Given the description of an element on the screen output the (x, y) to click on. 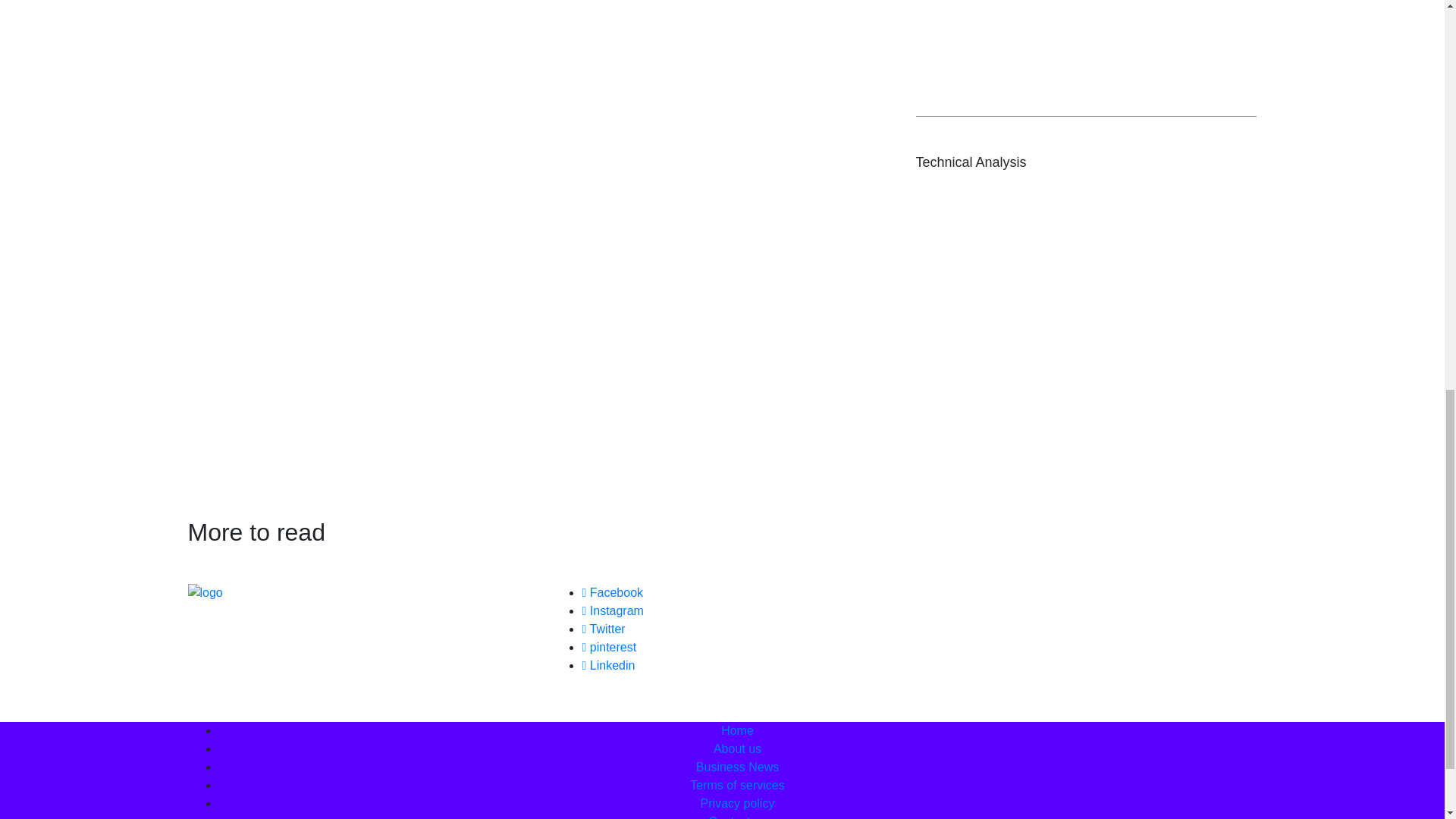
hotlists TradingView widget (1086, 38)
technical analysis TradingView widget (1086, 329)
